Given the description of an element on the screen output the (x, y) to click on. 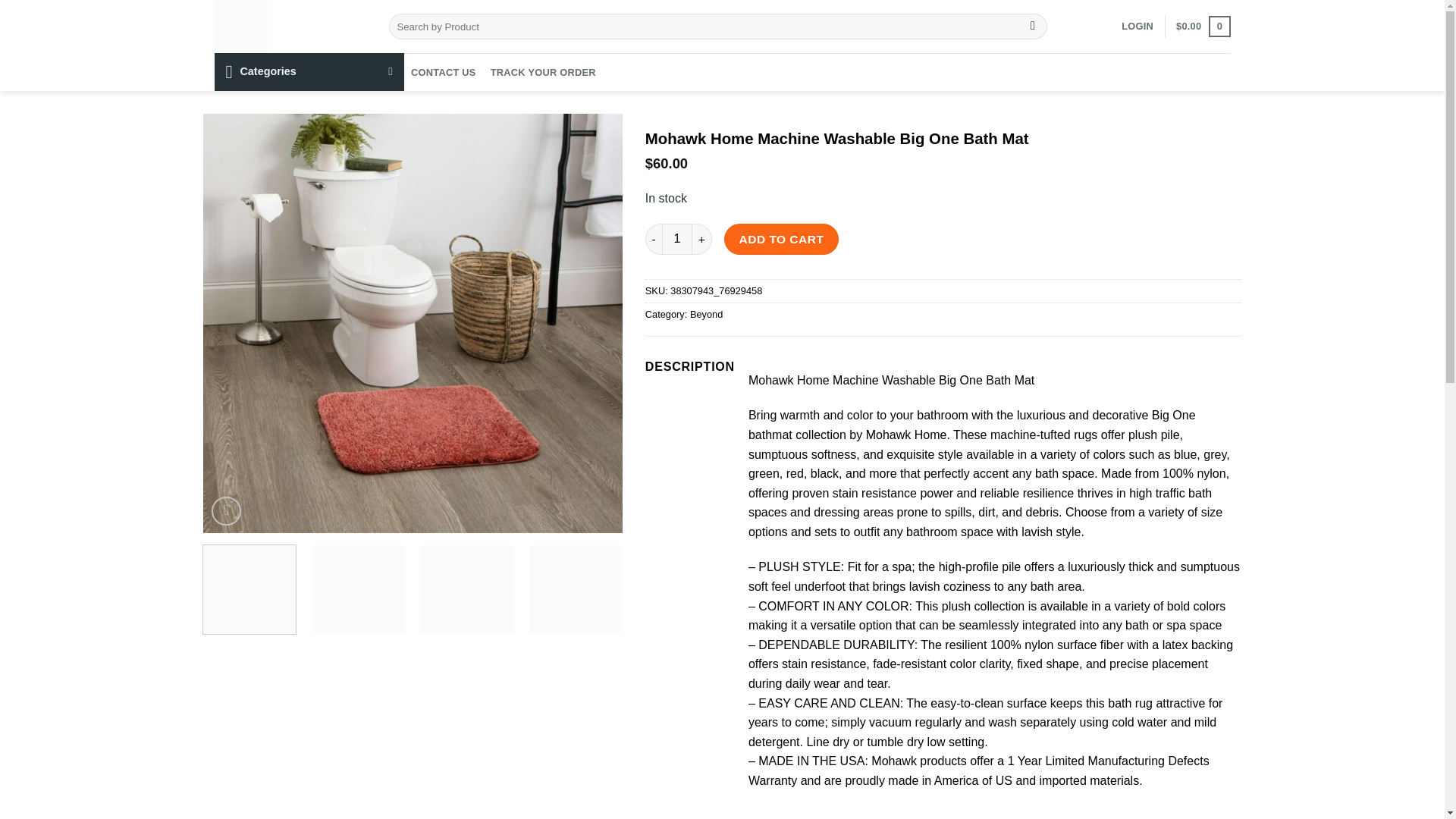
Search (1032, 26)
Zoom (226, 511)
CONTACT US (443, 72)
LOGIN (1137, 26)
Cart (1203, 25)
1 (677, 238)
Login (1137, 26)
TRACK YOUR ORDER (542, 72)
